Given the description of an element on the screen output the (x, y) to click on. 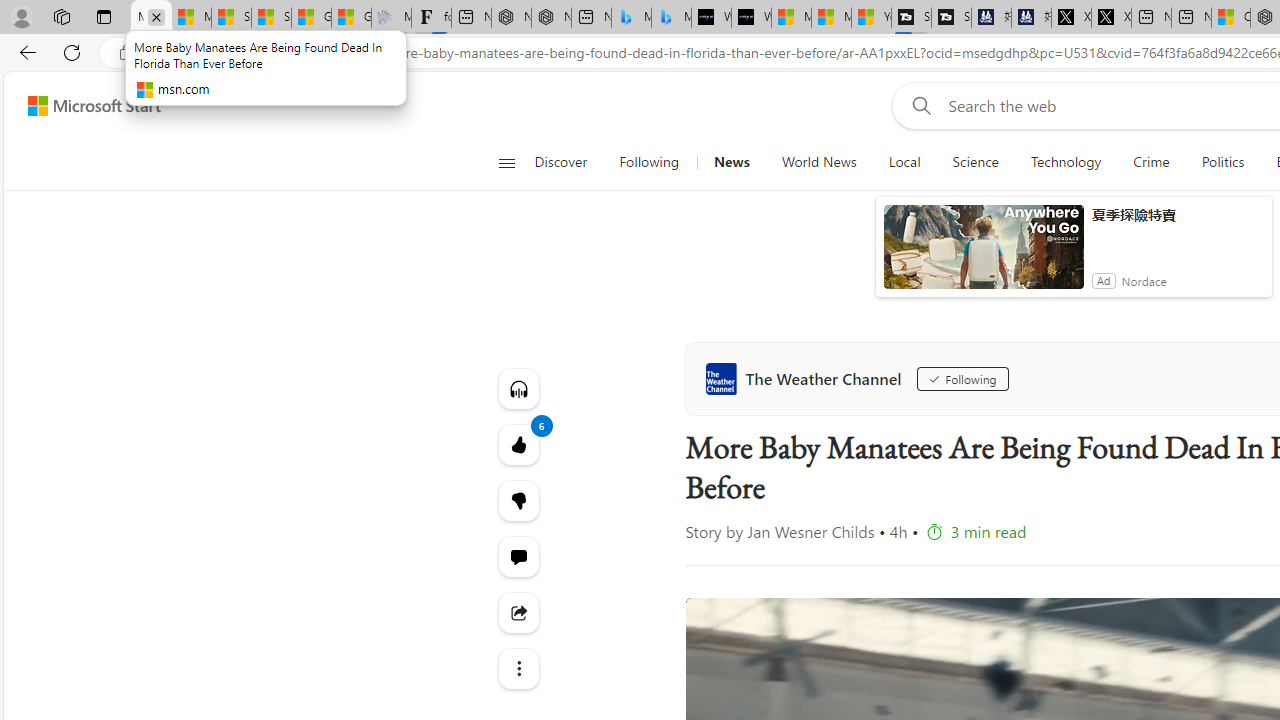
Science (975, 162)
World News (818, 162)
Technology (1065, 162)
Crime (1151, 162)
Web search (917, 105)
Dislike (517, 500)
Shanghai, China weather forecast | Microsoft Weather (271, 17)
Politics (1222, 162)
Crime (1150, 162)
See more (517, 668)
